Given the description of an element on the screen output the (x, y) to click on. 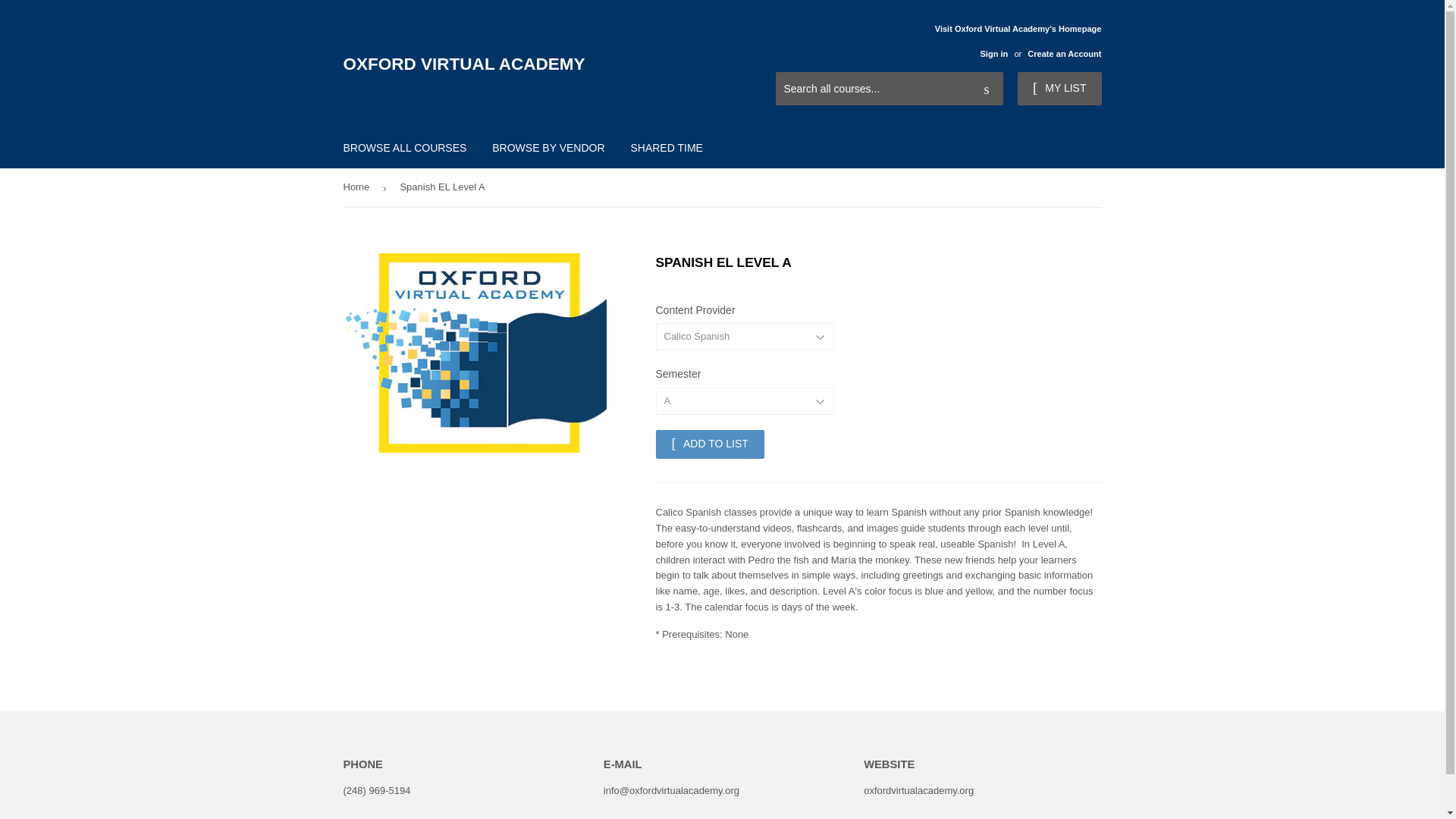
Sign in (993, 53)
ADD TO LIST (708, 443)
oxfordvirtualacademy.org (918, 790)
BROWSE ALL COURSES (405, 147)
SHARED TIME (665, 147)
Search (986, 89)
Create an Account (1063, 53)
Visit Oxford Virtual Academy's Homepage (1018, 40)
BROWSE BY VENDOR (547, 147)
MY LIST (1058, 88)
OXFORD VIRTUAL ACADEMY (532, 64)
